Given the description of an element on the screen output the (x, y) to click on. 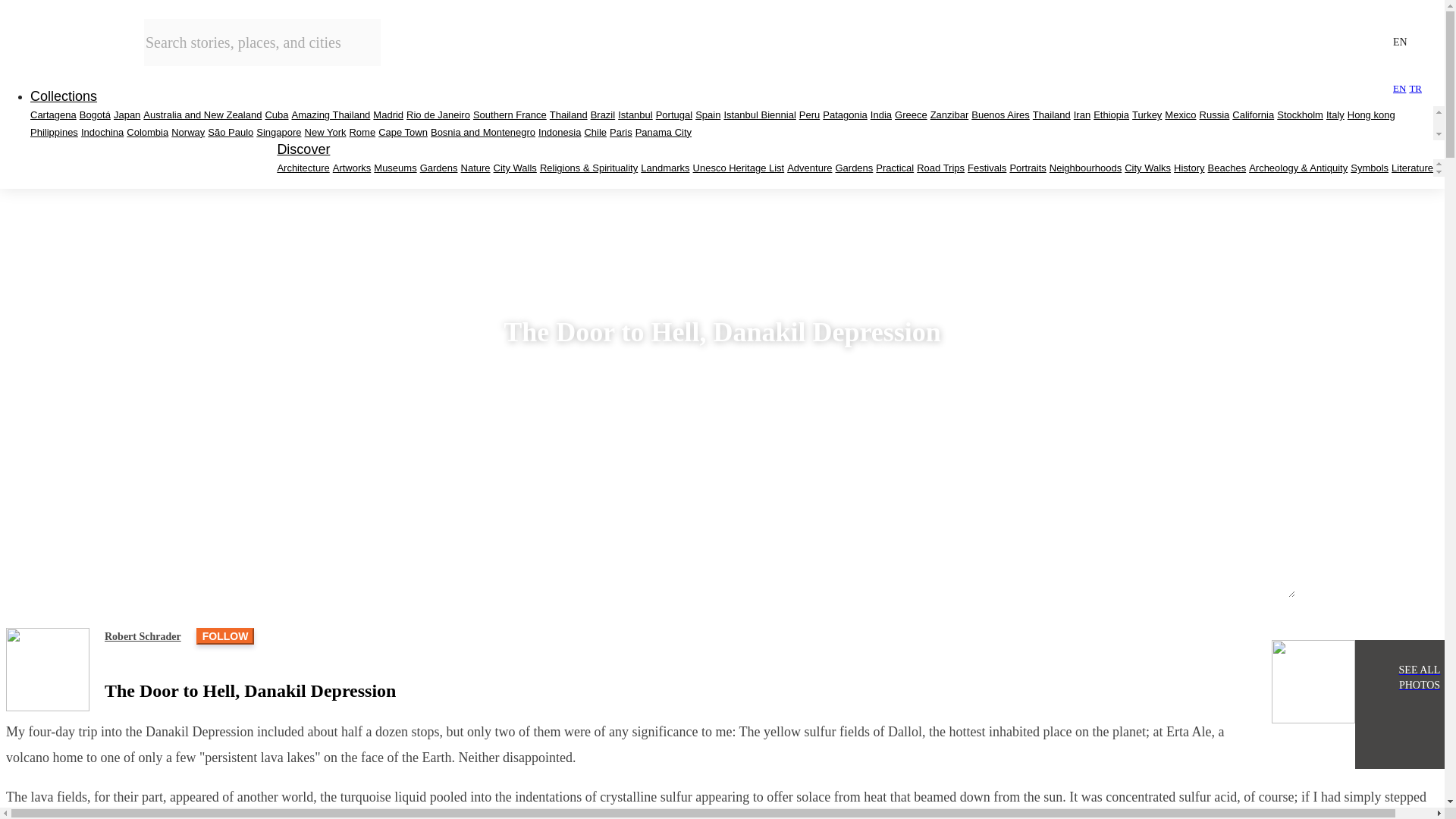
OpusTravel (60, 41)
TR (1415, 88)
The Door to Hell, Danakil Depression (1313, 681)
EN (1399, 88)
